Given the description of an element on the screen output the (x, y) to click on. 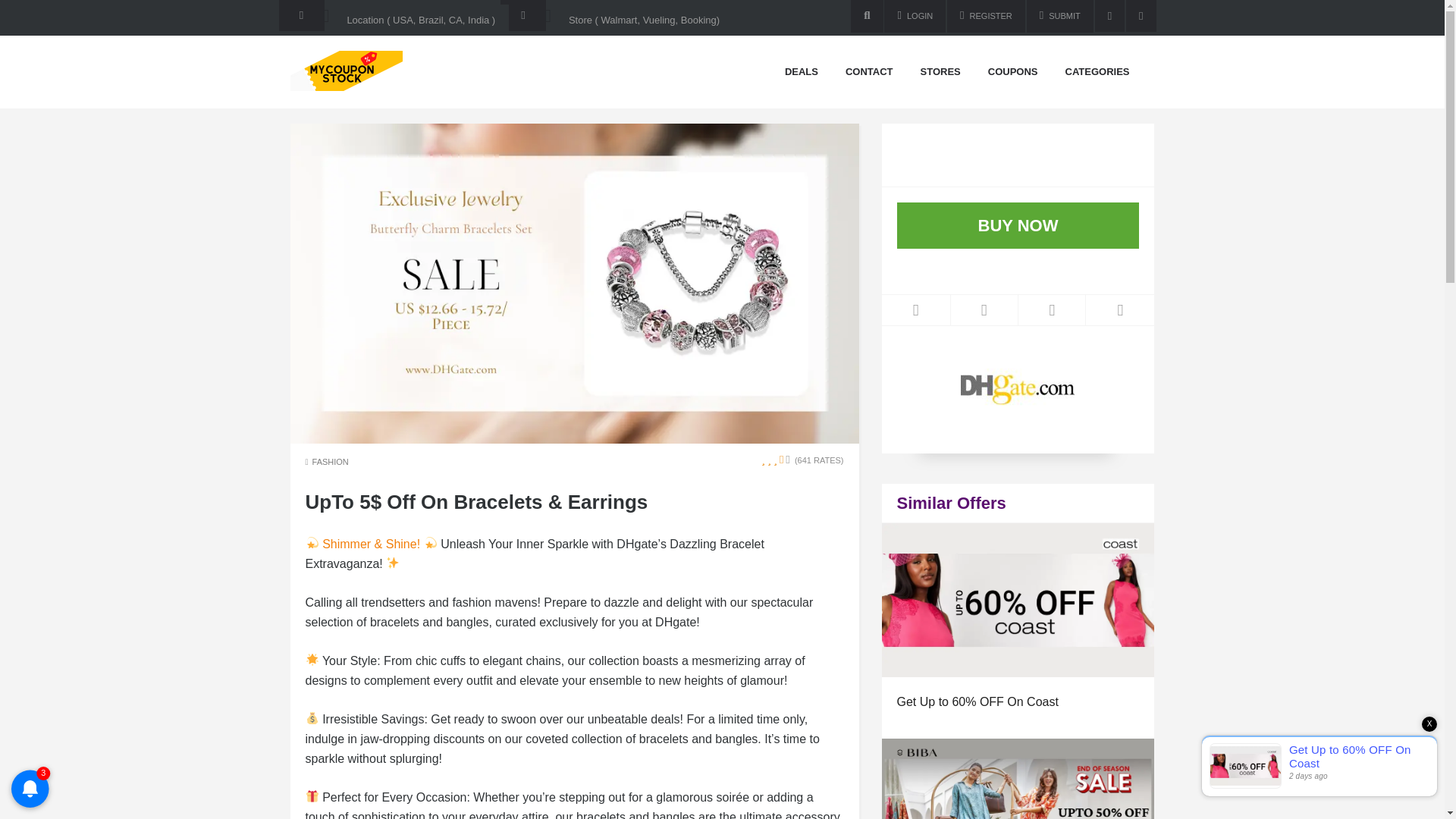
DEALS (801, 71)
BUY NOW (1017, 225)
LOGIN (913, 16)
Deals (801, 71)
COUPONS (1012, 71)
FASHION (331, 461)
Contact (869, 71)
CONTACT (869, 71)
Coupons (1012, 71)
CATEGORIES (1097, 71)
Categories (1097, 71)
REGISTER (986, 16)
STORES (940, 71)
Stores (940, 71)
SUBMIT (1059, 16)
